Given the description of an element on the screen output the (x, y) to click on. 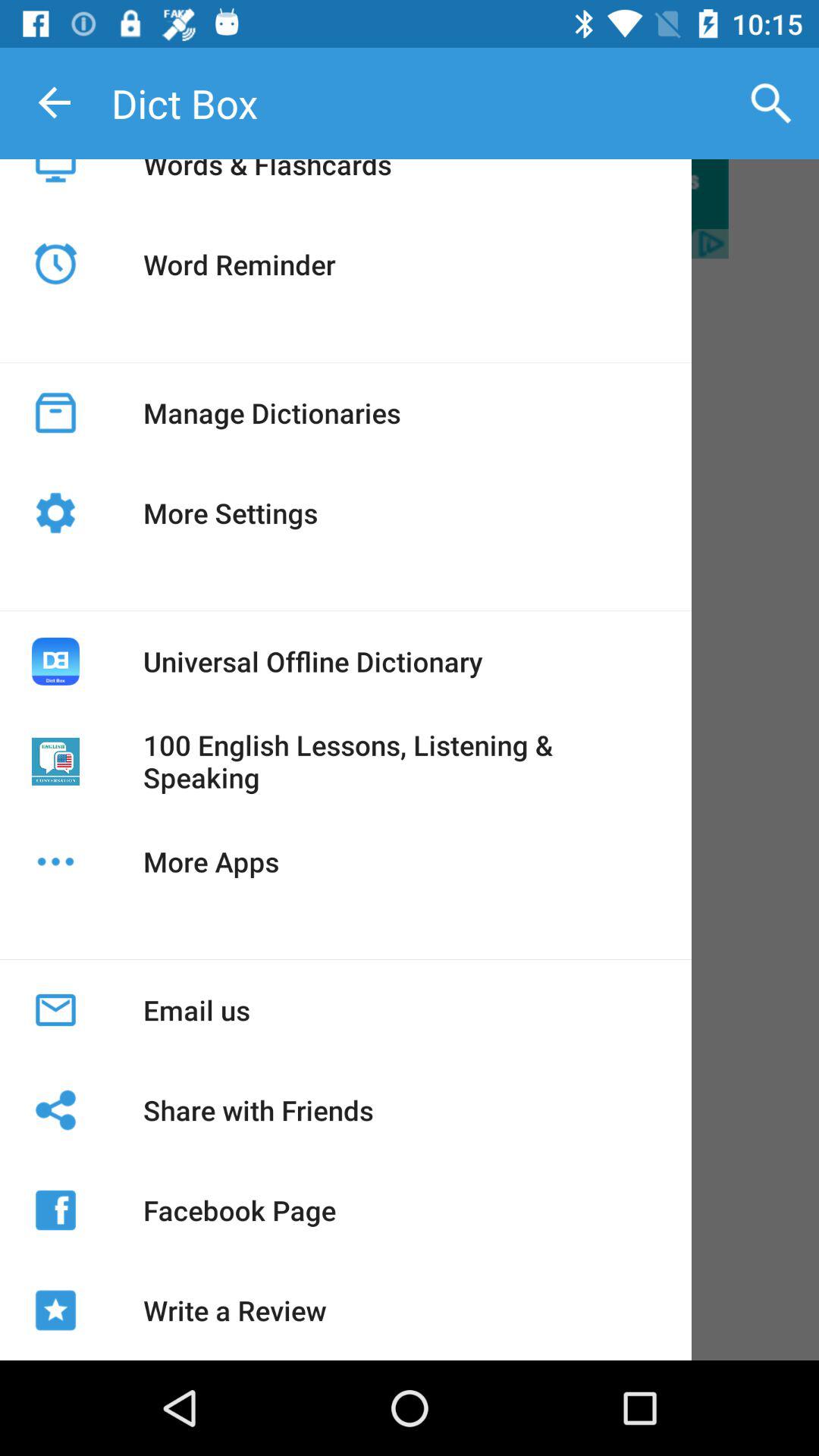
tap the icon next to dict box icon (771, 103)
